Given the description of an element on the screen output the (x, y) to click on. 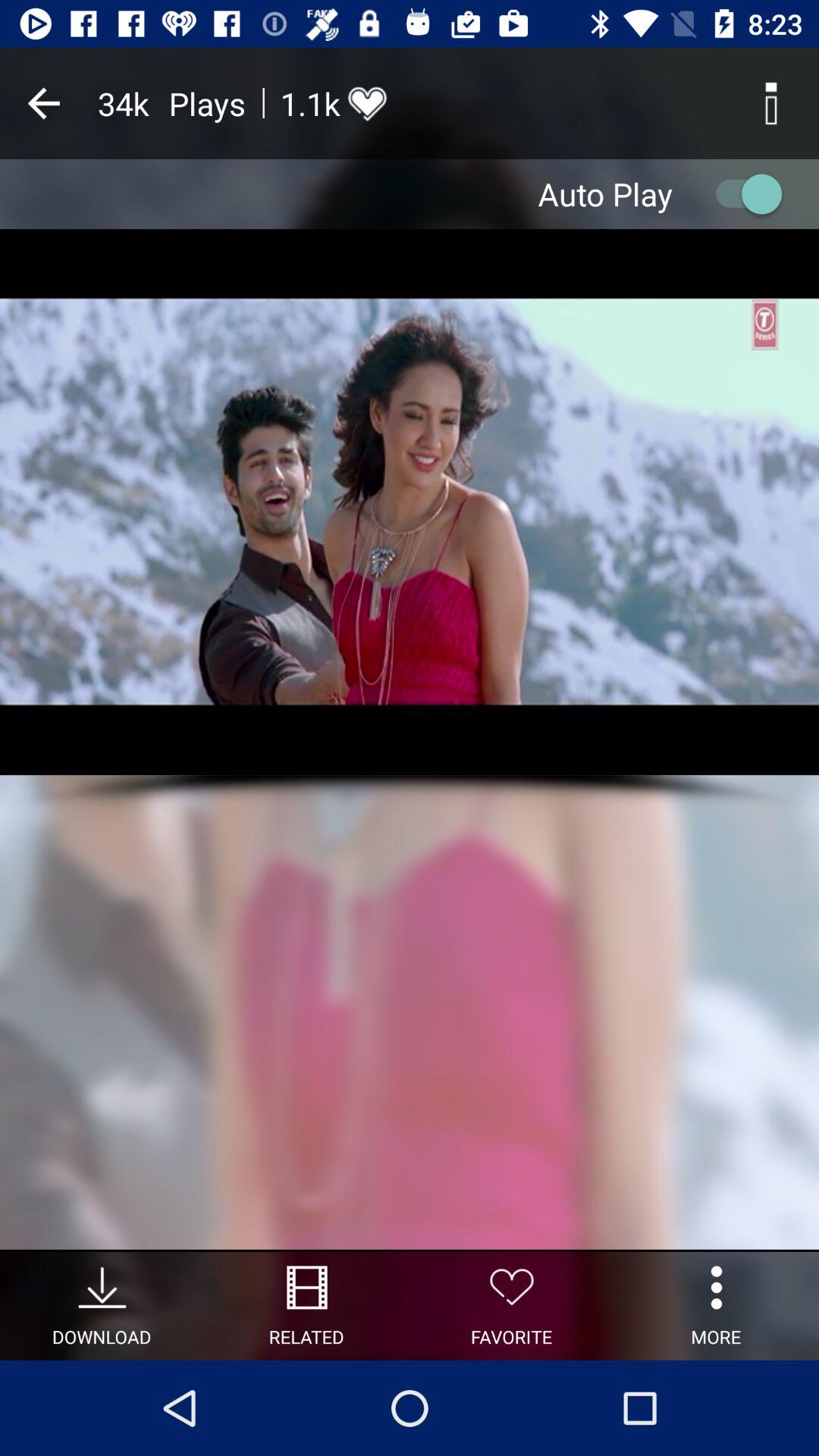
refresh button (741, 193)
